Given the description of an element on the screen output the (x, y) to click on. 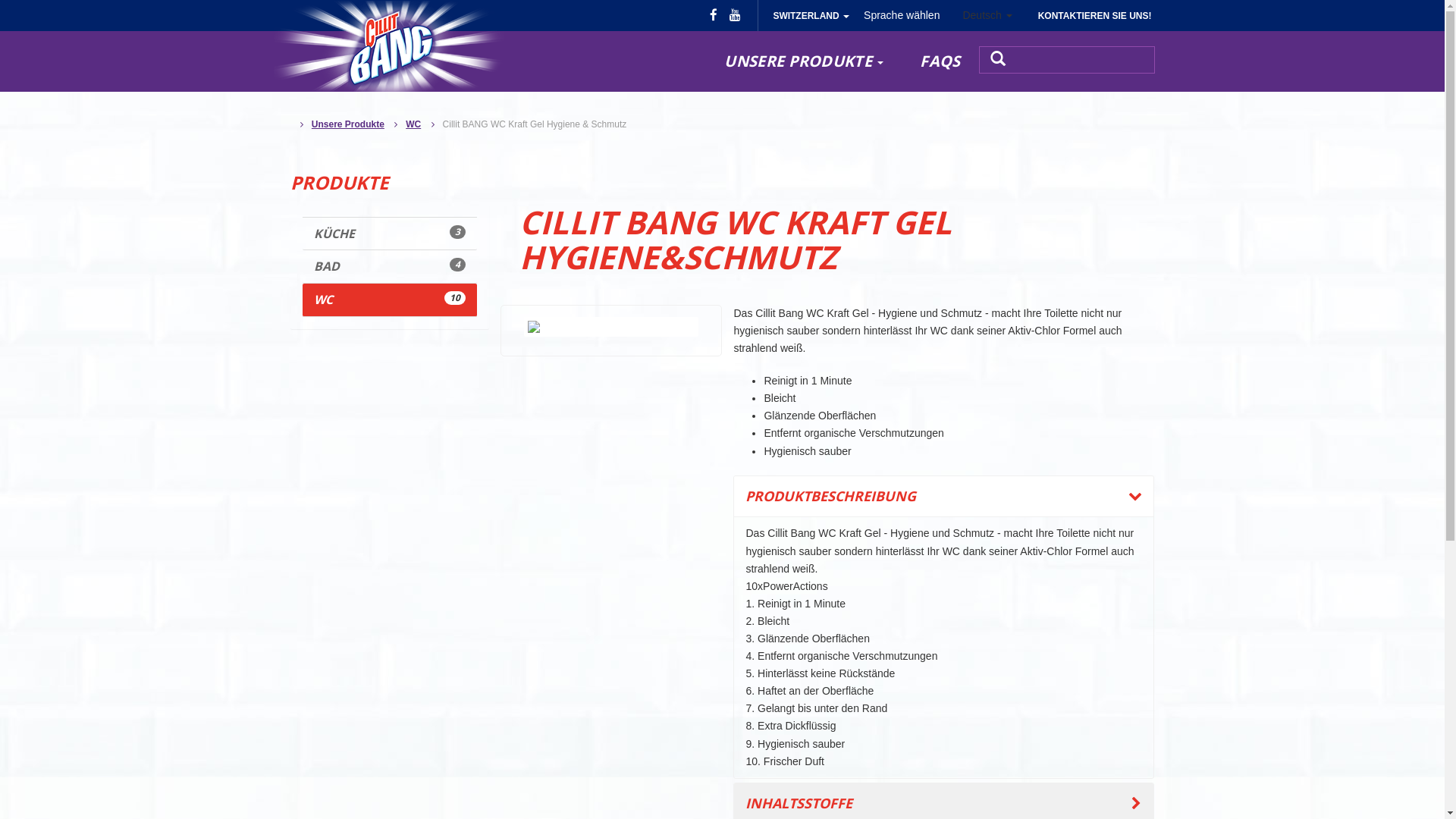
FAQS Element type: text (939, 61)
YouTube Element type: text (734, 15)
WC
10 Element type: text (388, 299)
Cillit Bang Element type: text (388, 44)
Unsere Produkte Element type: text (347, 124)
UNSERE PRODUKTE Element type: text (803, 61)
SEARCH Element type: text (998, 59)
text Element type: hover (1073, 59)
Deutsch Element type: text (986, 15)
BAD
4 Element type: text (388, 266)
PRODUKTBESCHREIBUNG Element type: text (943, 496)
Facebook Element type: text (713, 15)
WC Element type: text (412, 124)
KONTAKTIEREN SIE UNS! Element type: text (1094, 15)
SWITZERLAND Element type: text (810, 15)
